Given the description of an element on the screen output the (x, y) to click on. 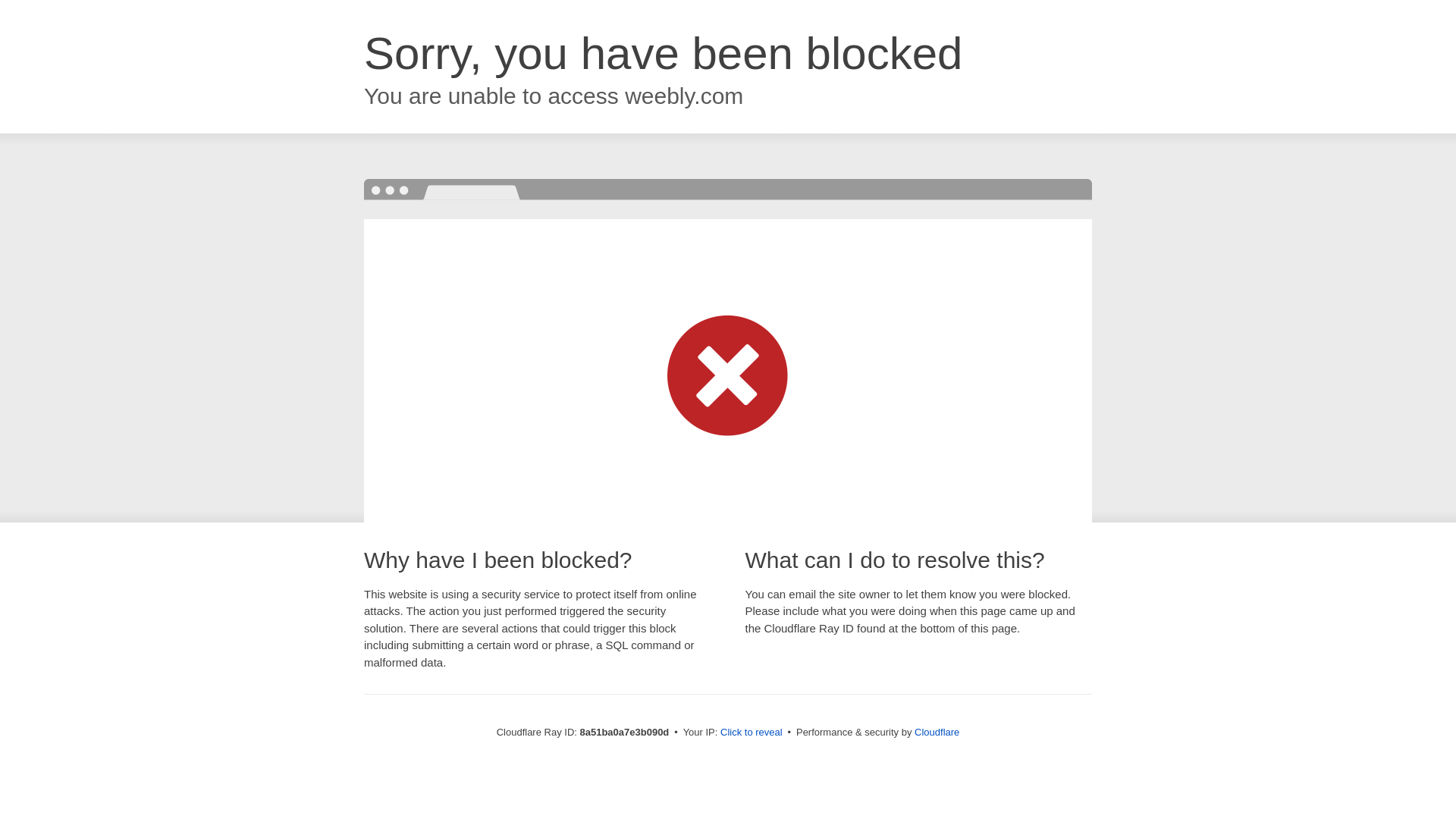
Cloudflare (936, 731)
Click to reveal (751, 732)
